Given the description of an element on the screen output the (x, y) to click on. 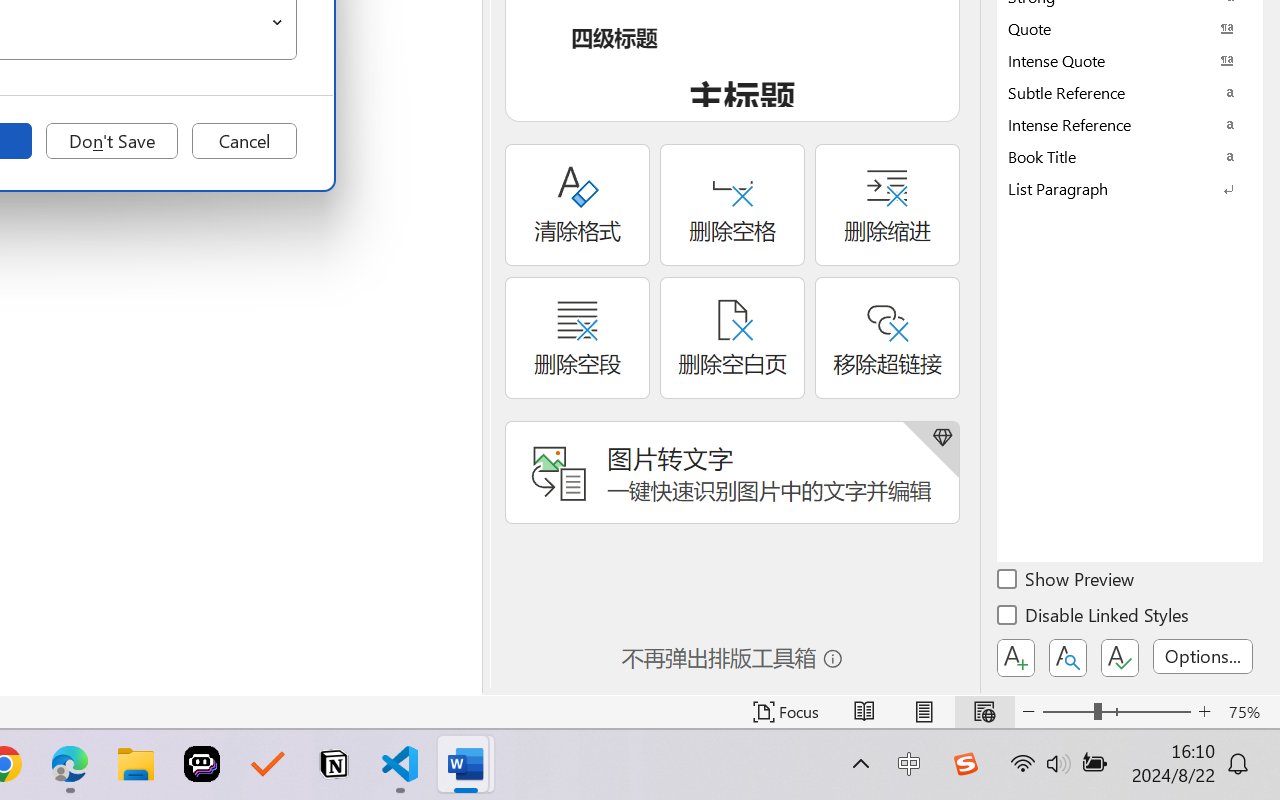
Quote (1130, 28)
Print Layout (924, 712)
Subtle Reference (1130, 92)
